Given the description of an element on the screen output the (x, y) to click on. 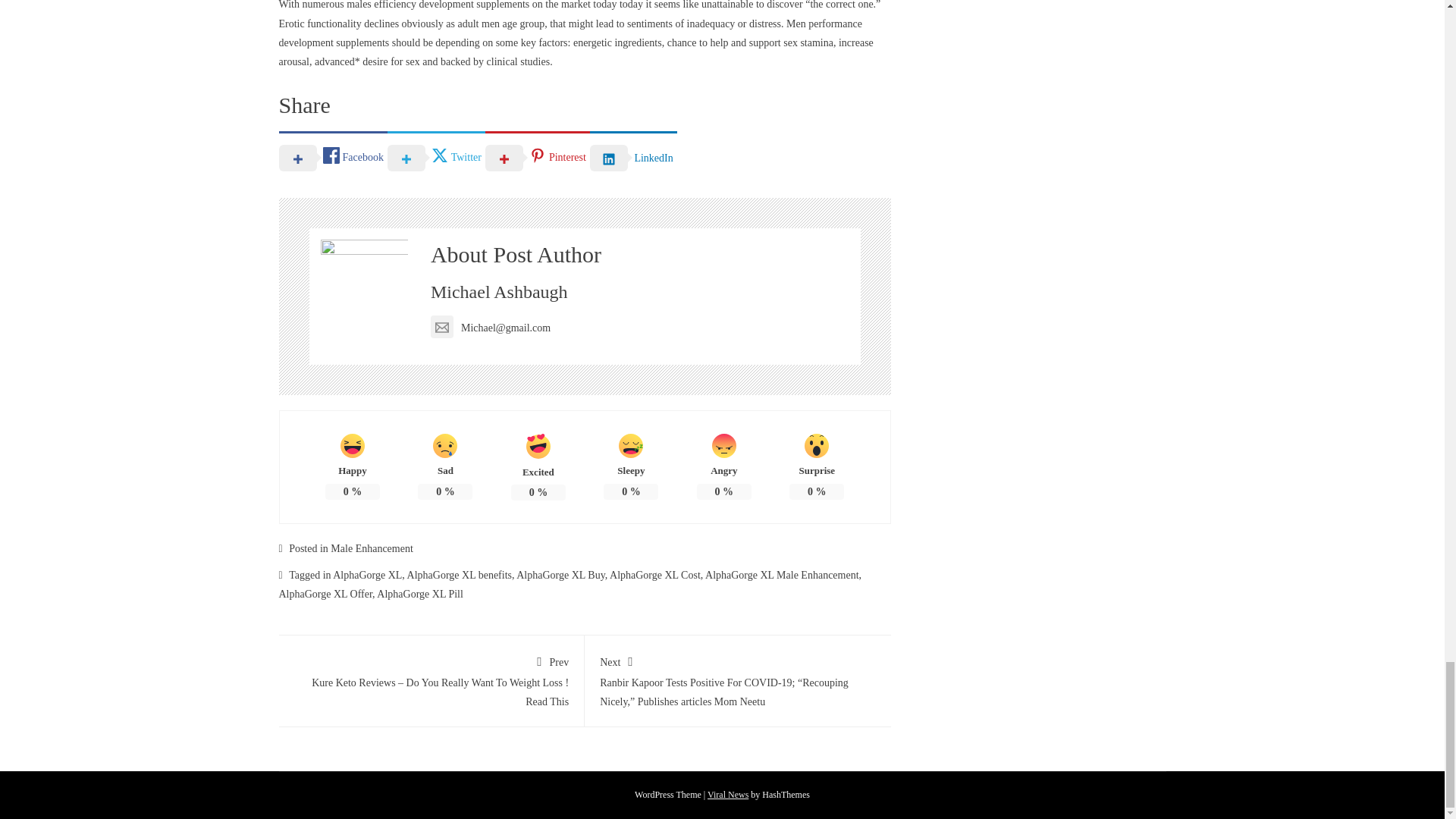
Twitter (435, 156)
LinkedIn (633, 156)
Michael Ashbaugh (498, 291)
Pinterest (536, 156)
Facebook (333, 156)
